Given the description of an element on the screen output the (x, y) to click on. 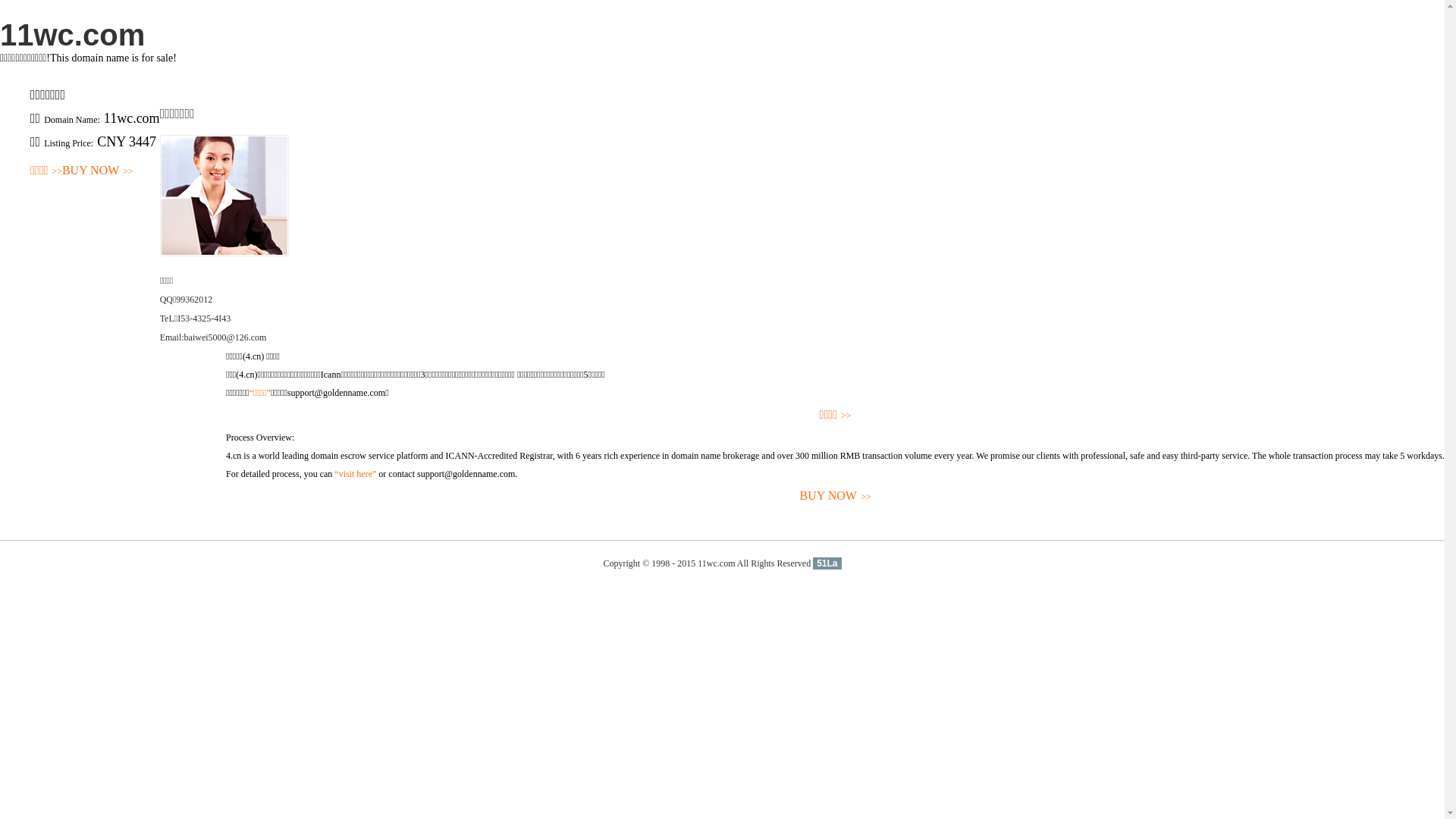
51La Element type: text (826, 563)
BUY NOW>> Element type: text (97, 170)
BUY NOW>> Element type: text (834, 496)
